Given the description of an element on the screen output the (x, y) to click on. 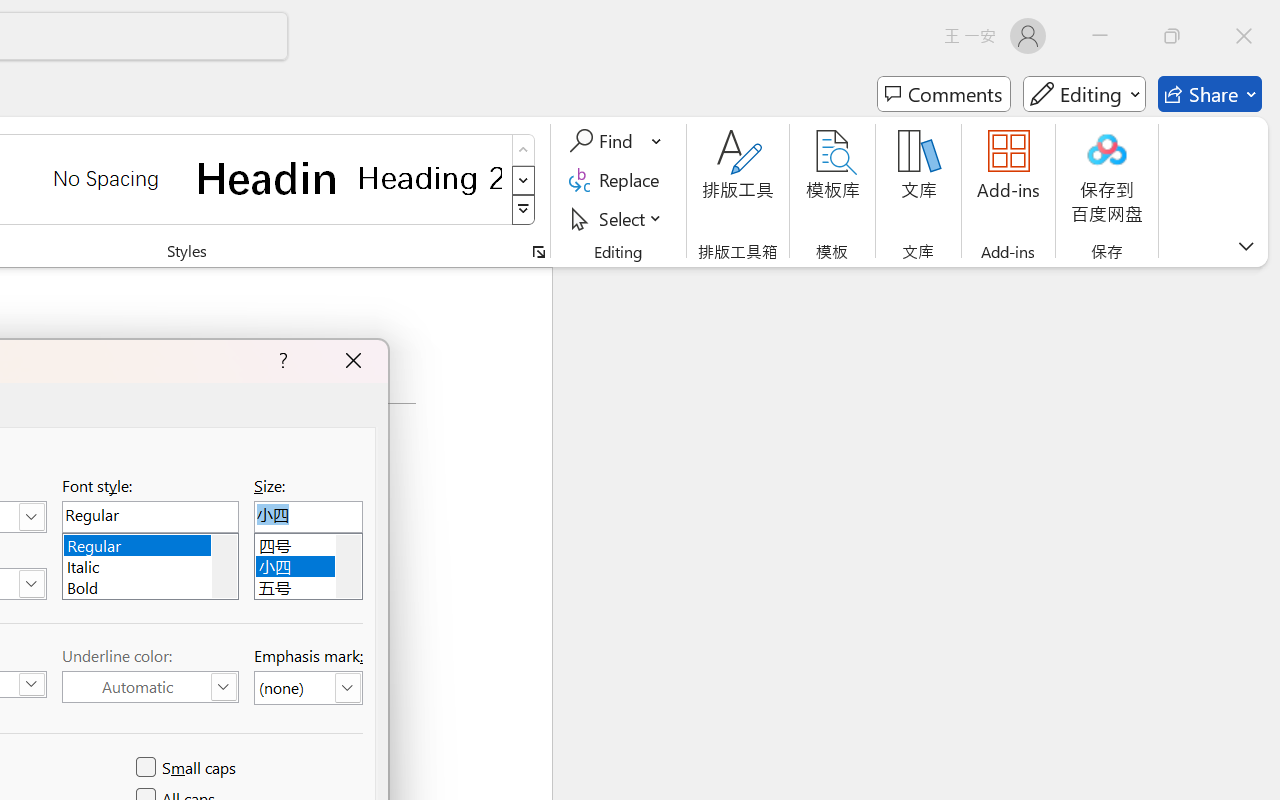
RichEdit Control (308, 516)
Styles... (538, 252)
AutomationID: 1795 (223, 566)
Styles (523, 209)
AutomationID: 1797 (347, 566)
Small caps (187, 767)
Replace... (617, 179)
Emphasis mark: (308, 687)
